Given the description of an element on the screen output the (x, y) to click on. 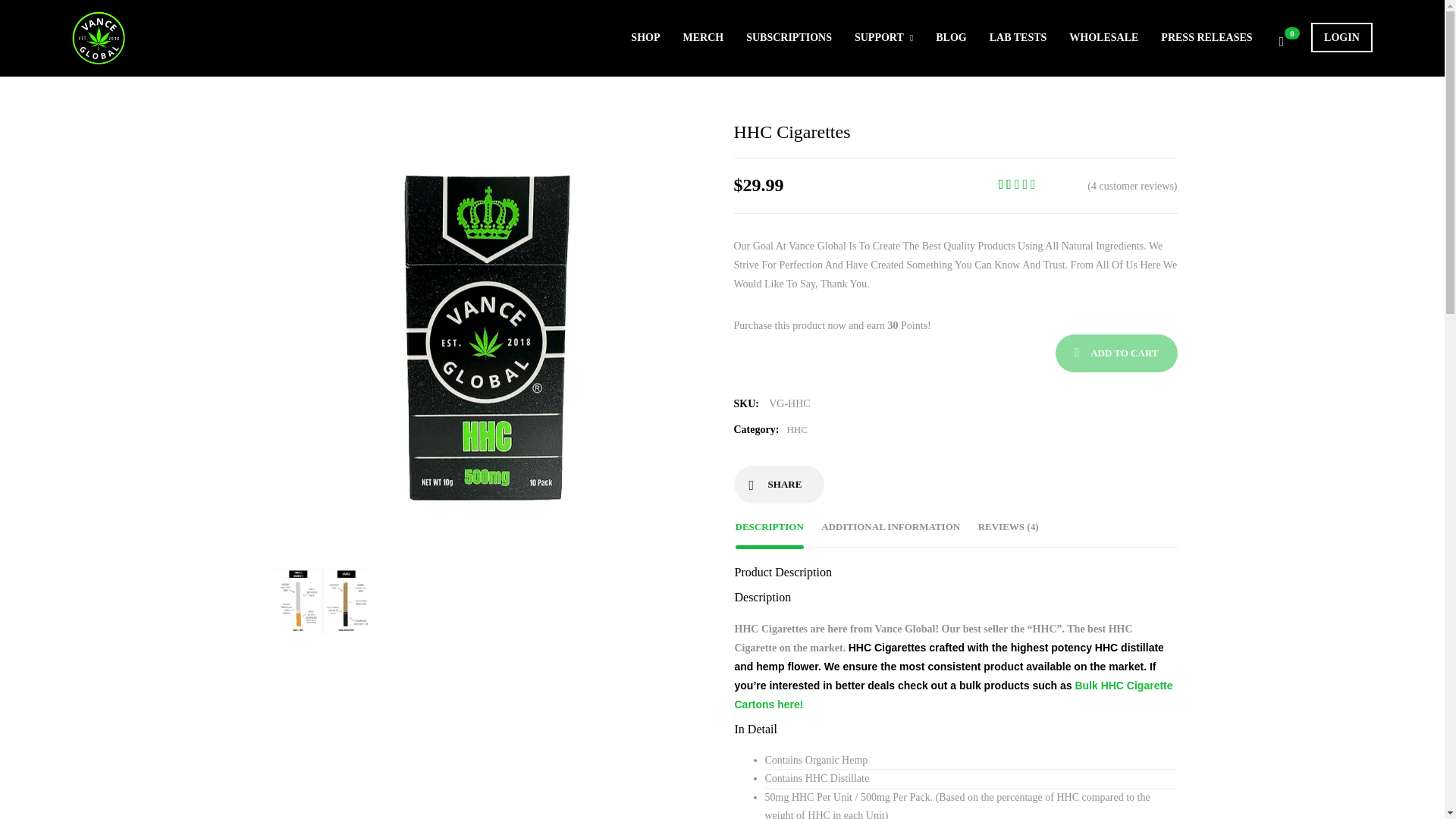
ADD TO CART (1115, 353)
DESCRIPTION (772, 526)
PRESS RELEASES (1206, 38)
ADDITIONAL INFORMATION (890, 526)
SUBSCRIPTIONS (788, 38)
Bulk HHC Cigarette Cartons here! (952, 694)
HHC (796, 429)
WHOLESALE (1103, 38)
comparison (322, 600)
